Given the description of an element on the screen output the (x, y) to click on. 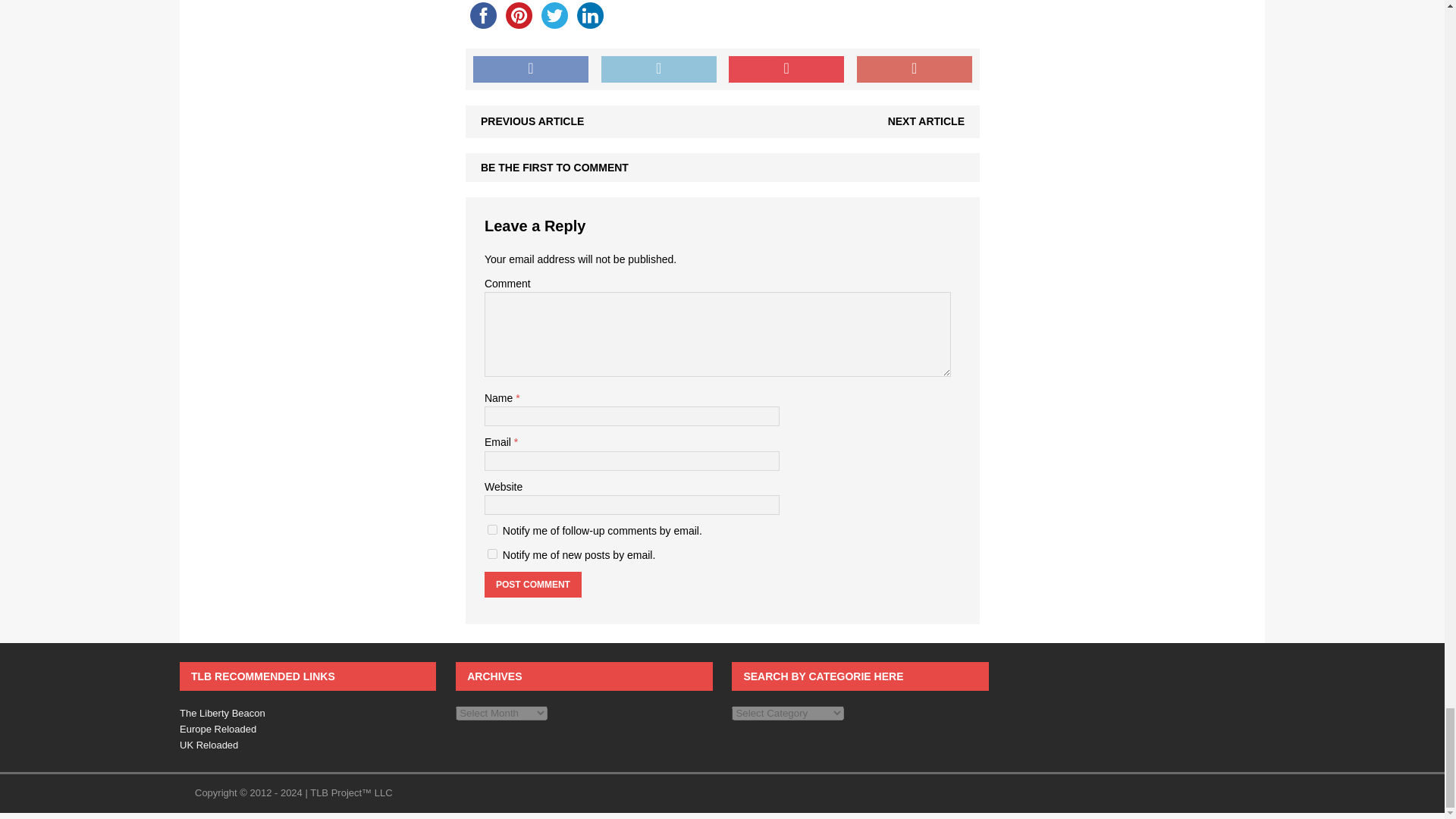
Post Comment (532, 584)
subscribe (492, 553)
subscribe (492, 529)
facebook (482, 16)
